Given the description of an element on the screen output the (x, y) to click on. 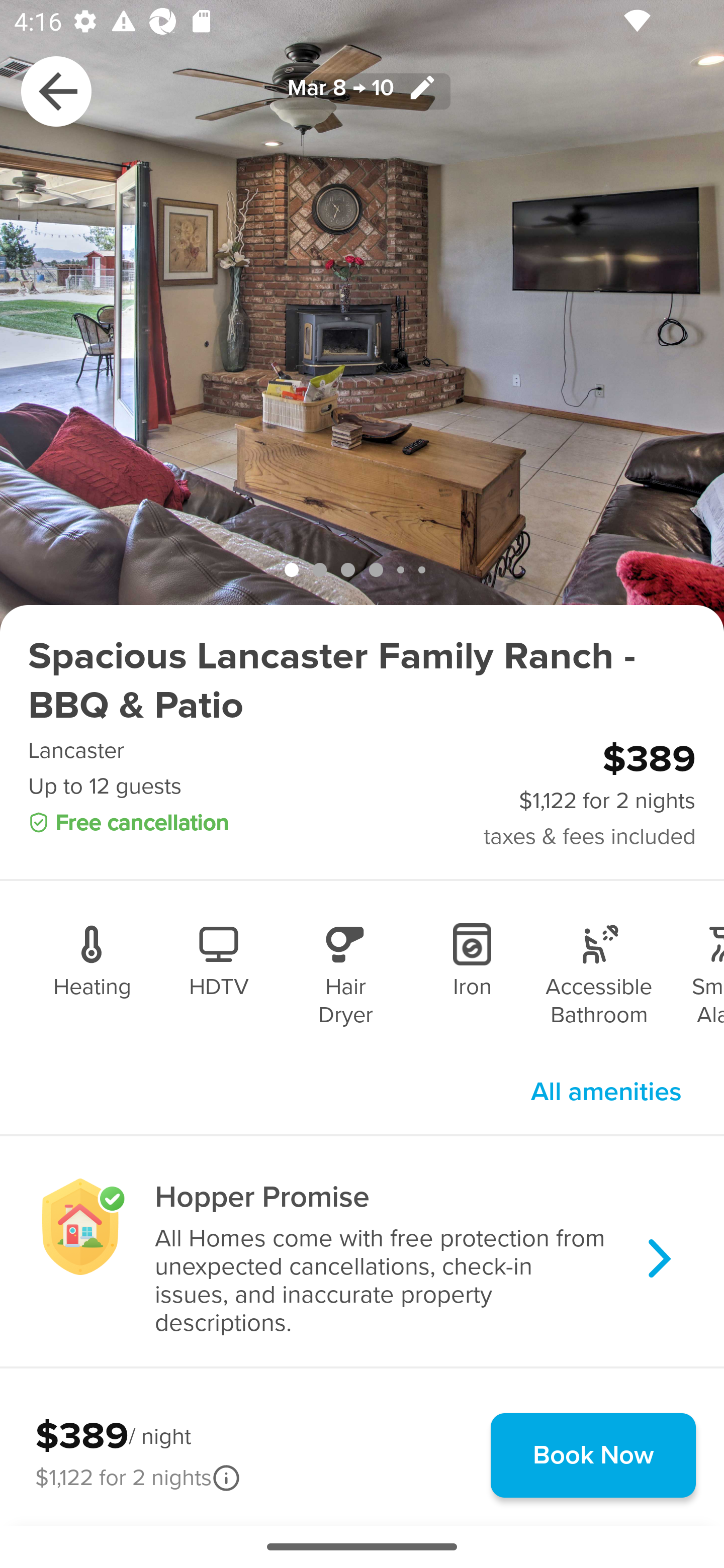
Mar 8 → 10 (361, 90)
Spacious Lancaster Family Ranch - BBQ & Patio (361, 681)
All amenities (606, 1091)
Book Now (592, 1454)
